Given the description of an element on the screen output the (x, y) to click on. 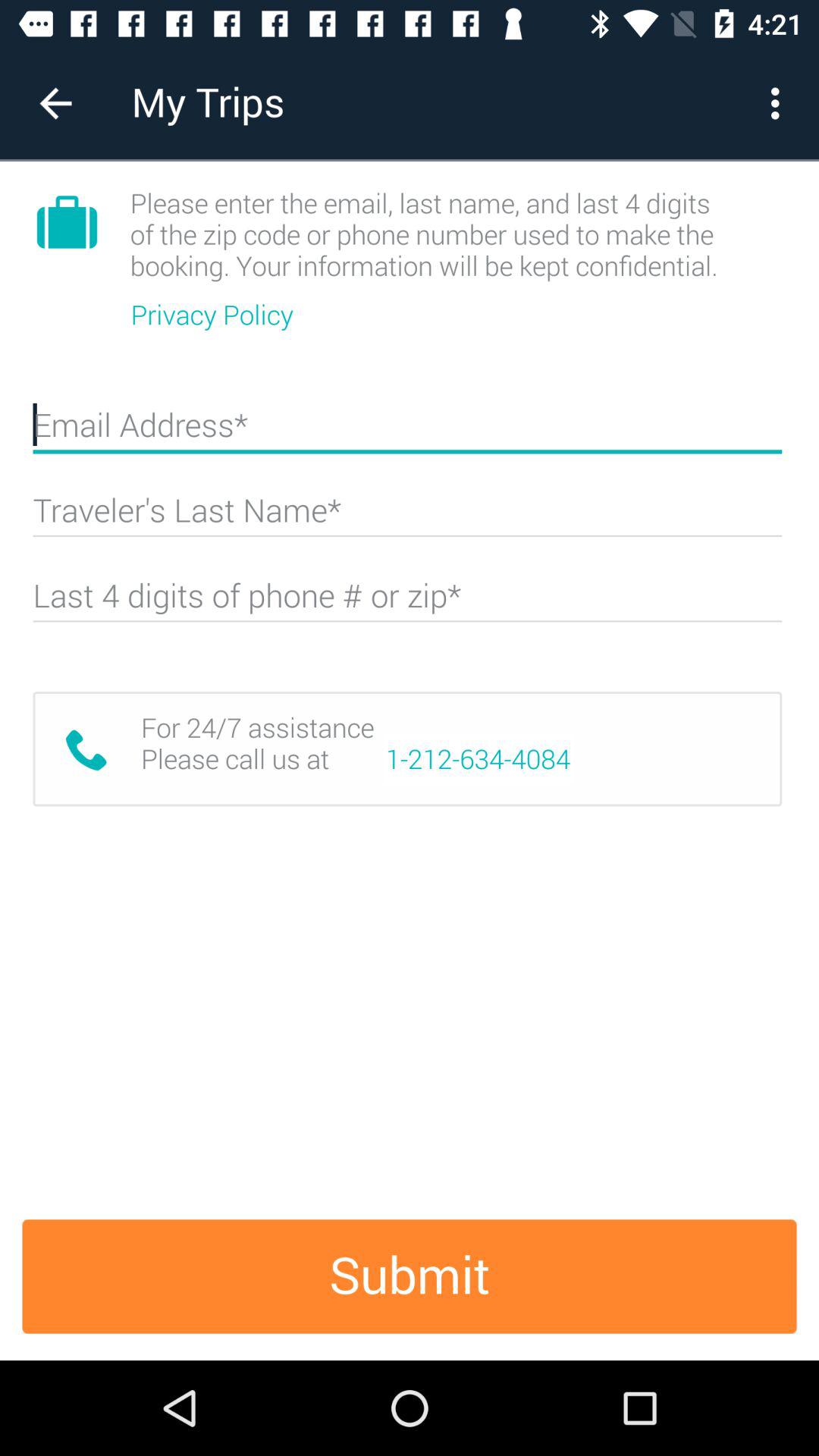
enter last 4 of phone or zip code (407, 601)
